Given the description of an element on the screen output the (x, y) to click on. 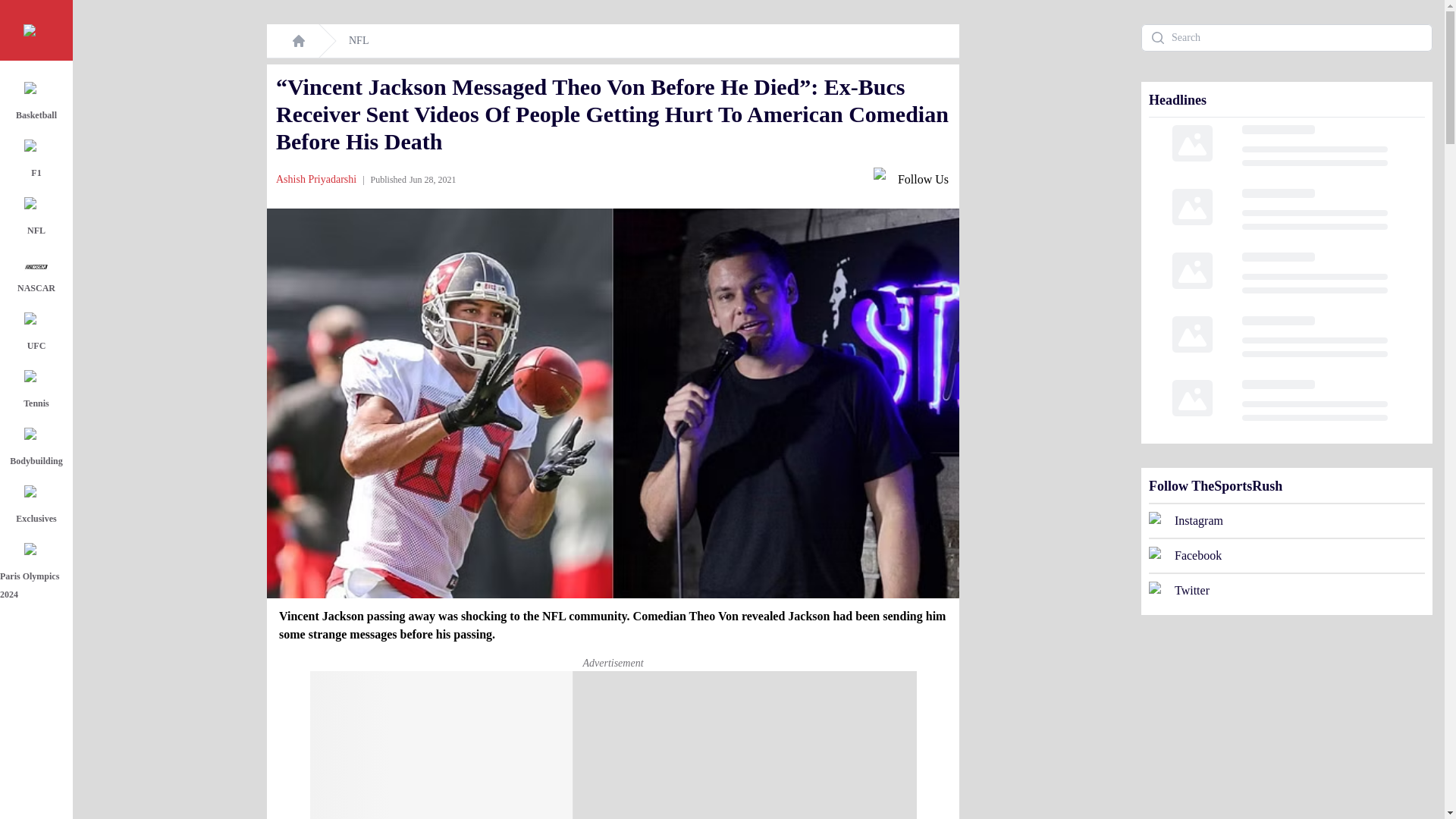
Follow Us (911, 179)
NFL (39, 217)
Bodybuilding (39, 448)
NFL (358, 40)
UFC (39, 333)
F1 (39, 160)
NASCAR (39, 275)
Exclusives (39, 506)
Ashish Priyadarshi (316, 179)
Facebook (1286, 554)
Follow Us (911, 179)
Bodybuilding (39, 448)
NASCAR (39, 275)
Paris Olympics 2024 (39, 573)
F1 (39, 160)
